Given the description of an element on the screen output the (x, y) to click on. 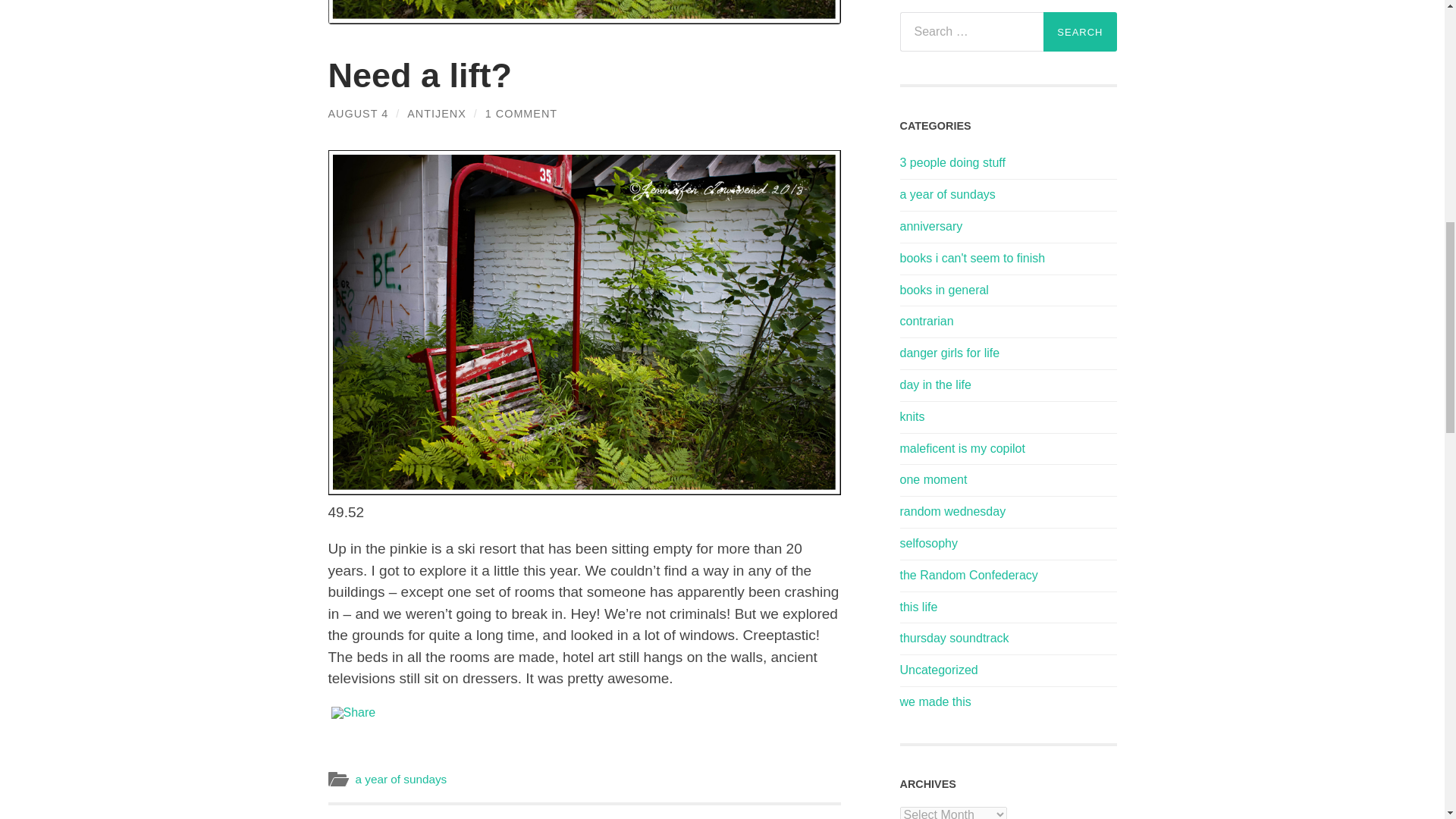
Posts by AntiJenX (436, 113)
Search (1079, 31)
Search (1079, 31)
AUGUST 4 (357, 113)
ANTIJENX (436, 113)
